Given the description of an element on the screen output the (x, y) to click on. 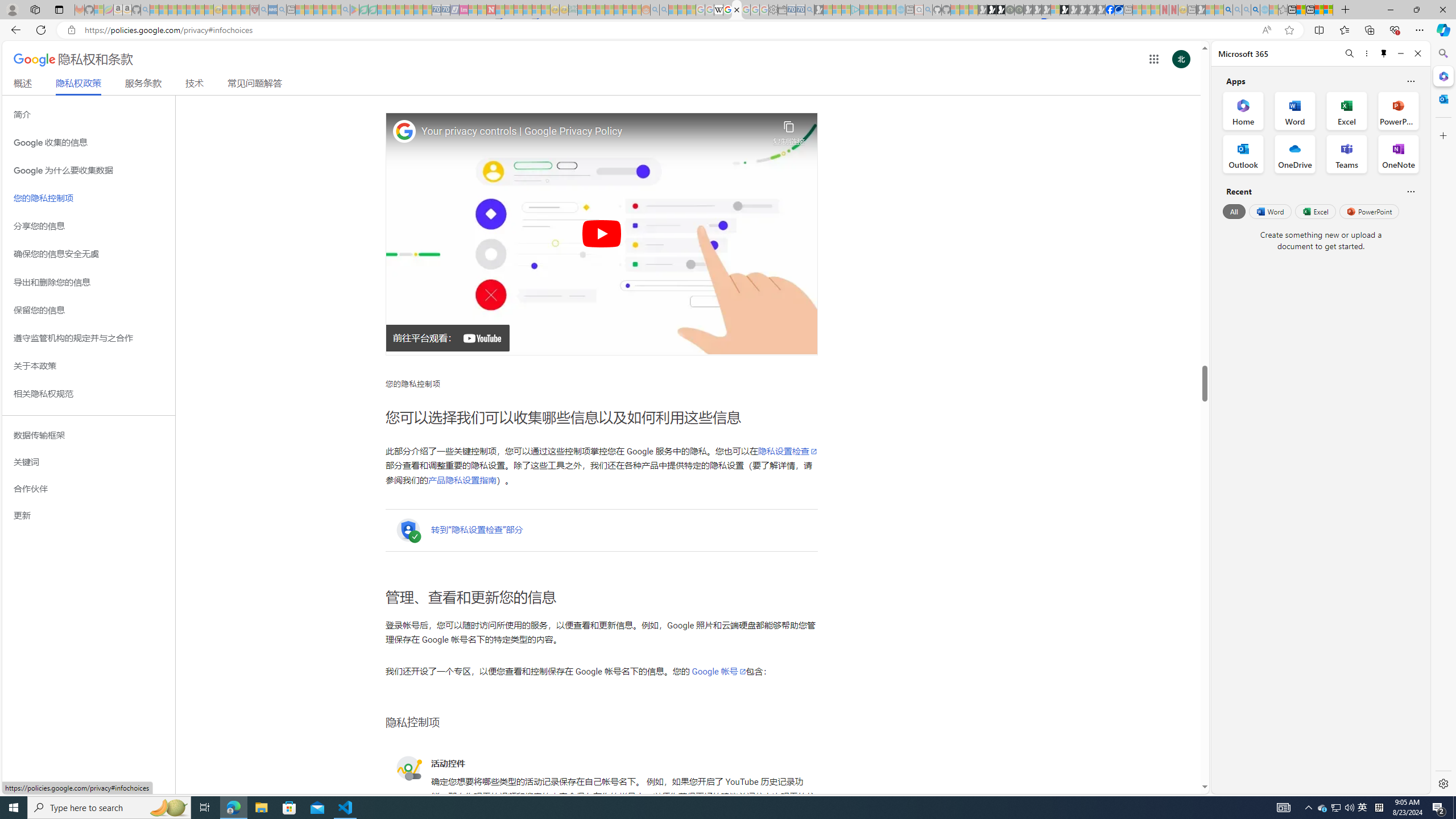
AirNow.gov (1118, 9)
